Given the description of an element on the screen output the (x, y) to click on. 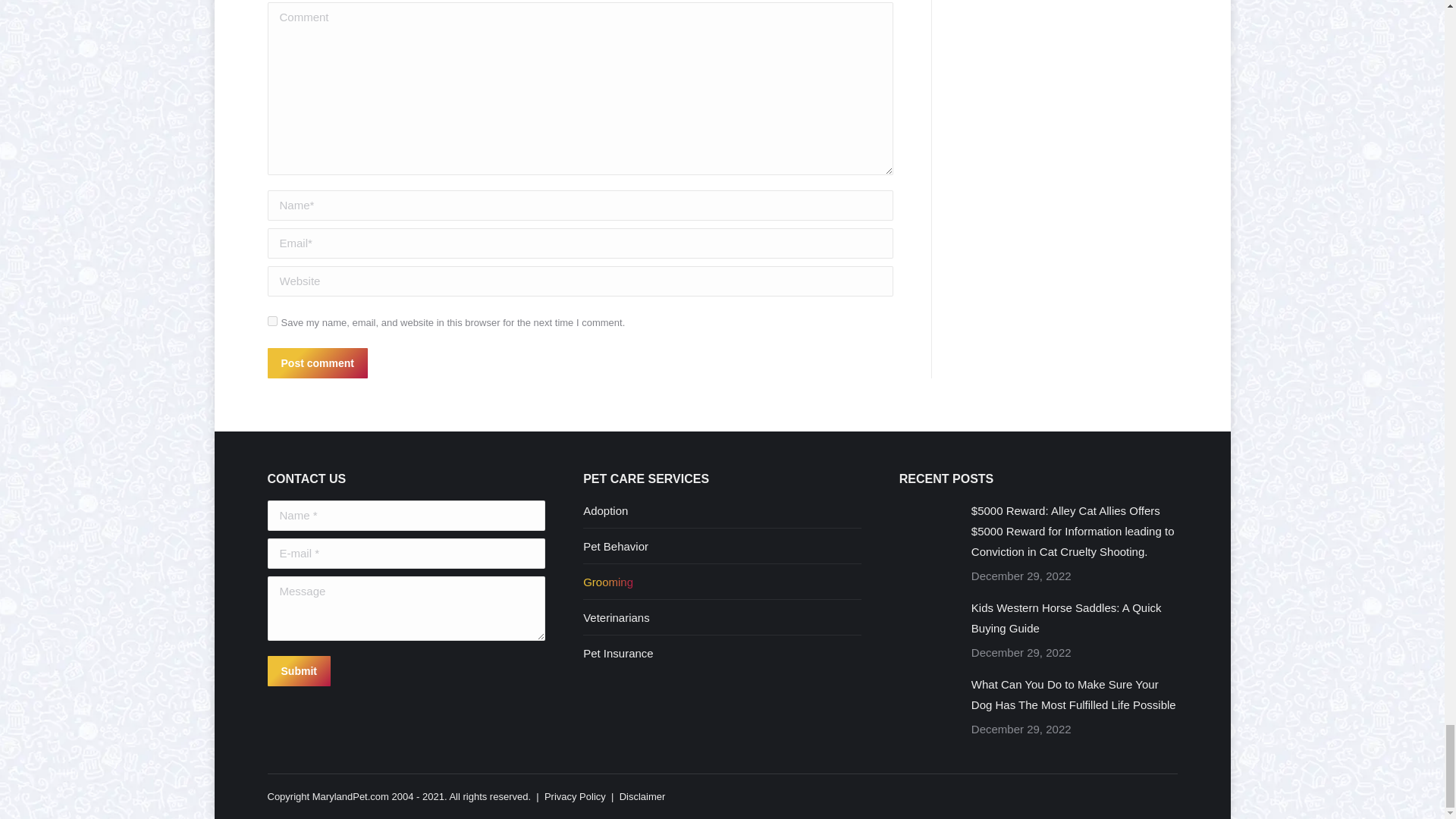
submit (370, 672)
yes (271, 320)
